Given the description of an element on the screen output the (x, y) to click on. 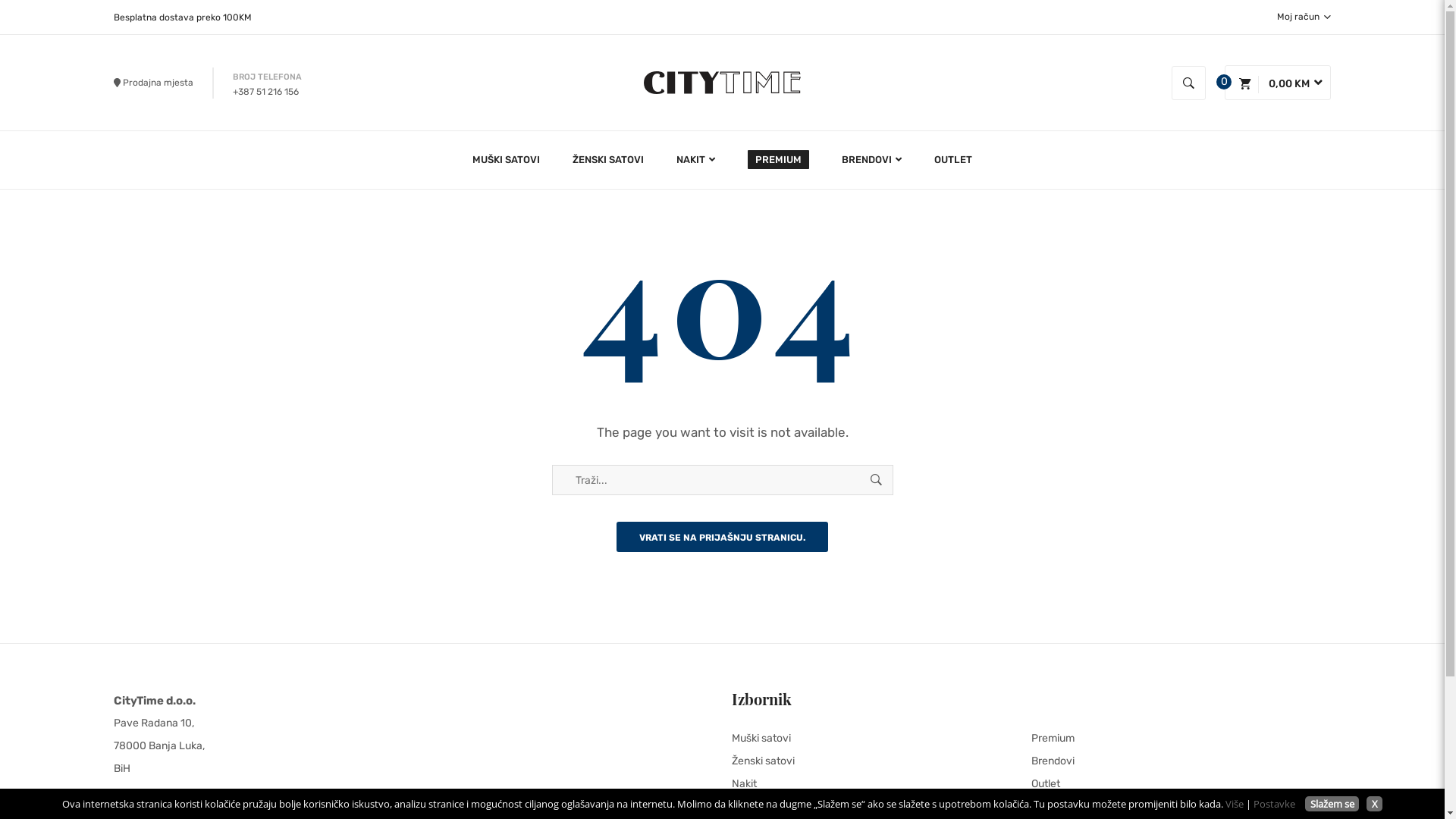
Postavke Element type: text (1274, 803)
Premium Element type: text (1180, 738)
Outlet Element type: text (1180, 783)
Brendovi Element type: text (1180, 760)
PREMIUM Element type: text (778, 159)
+387 51 216 156 Element type: text (265, 91)
Prodajna mjesta Element type: text (153, 82)
BRENDOVI Element type: text (871, 159)
0,00 KM Element type: text (1277, 82)
OUTLET Element type: text (945, 159)
X Element type: text (1374, 803)
Nakit Element type: text (880, 783)
NAKIT Element type: text (695, 159)
